Given the description of an element on the screen output the (x, y) to click on. 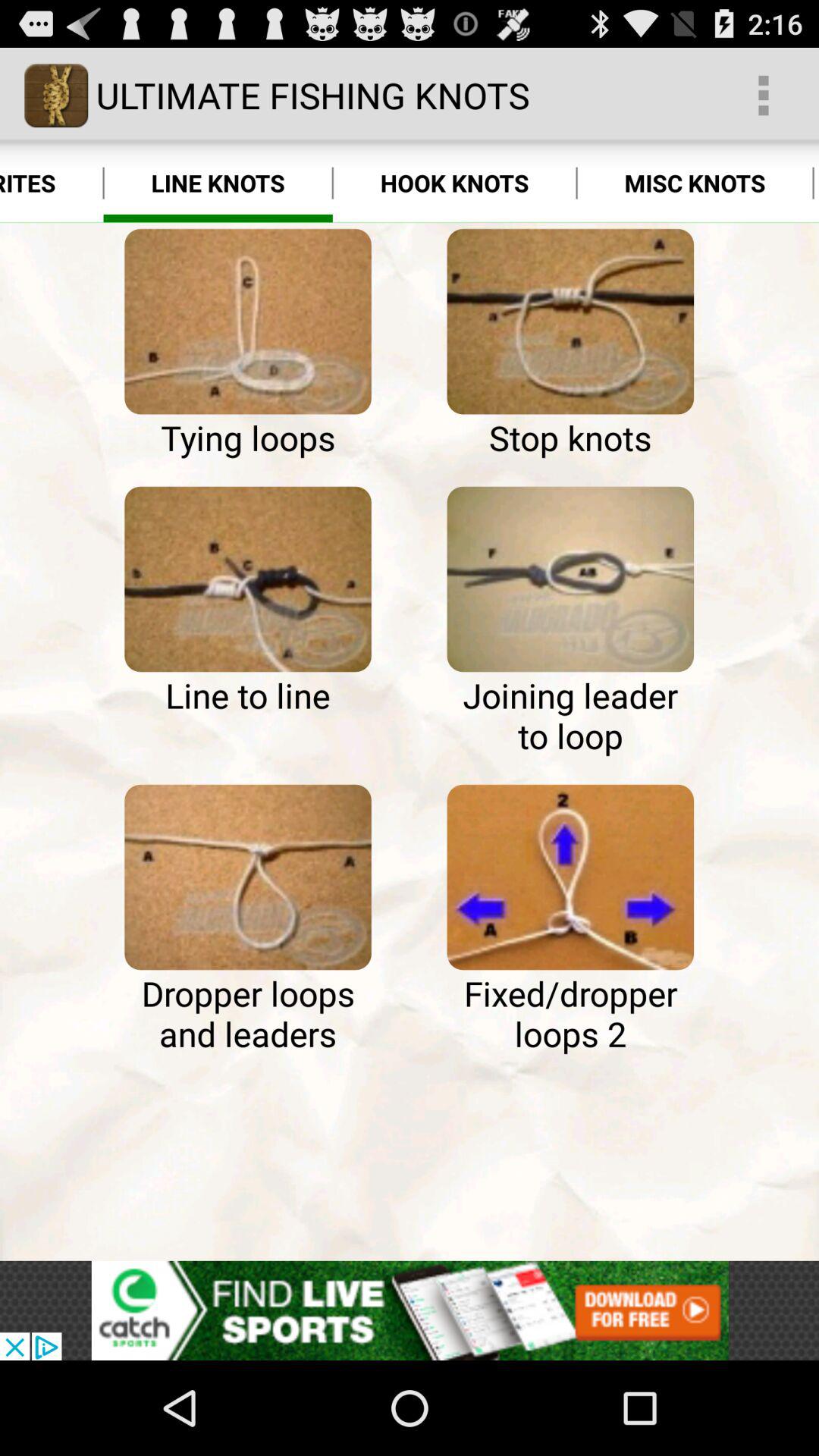
just a image (247, 321)
